Given the description of an element on the screen output the (x, y) to click on. 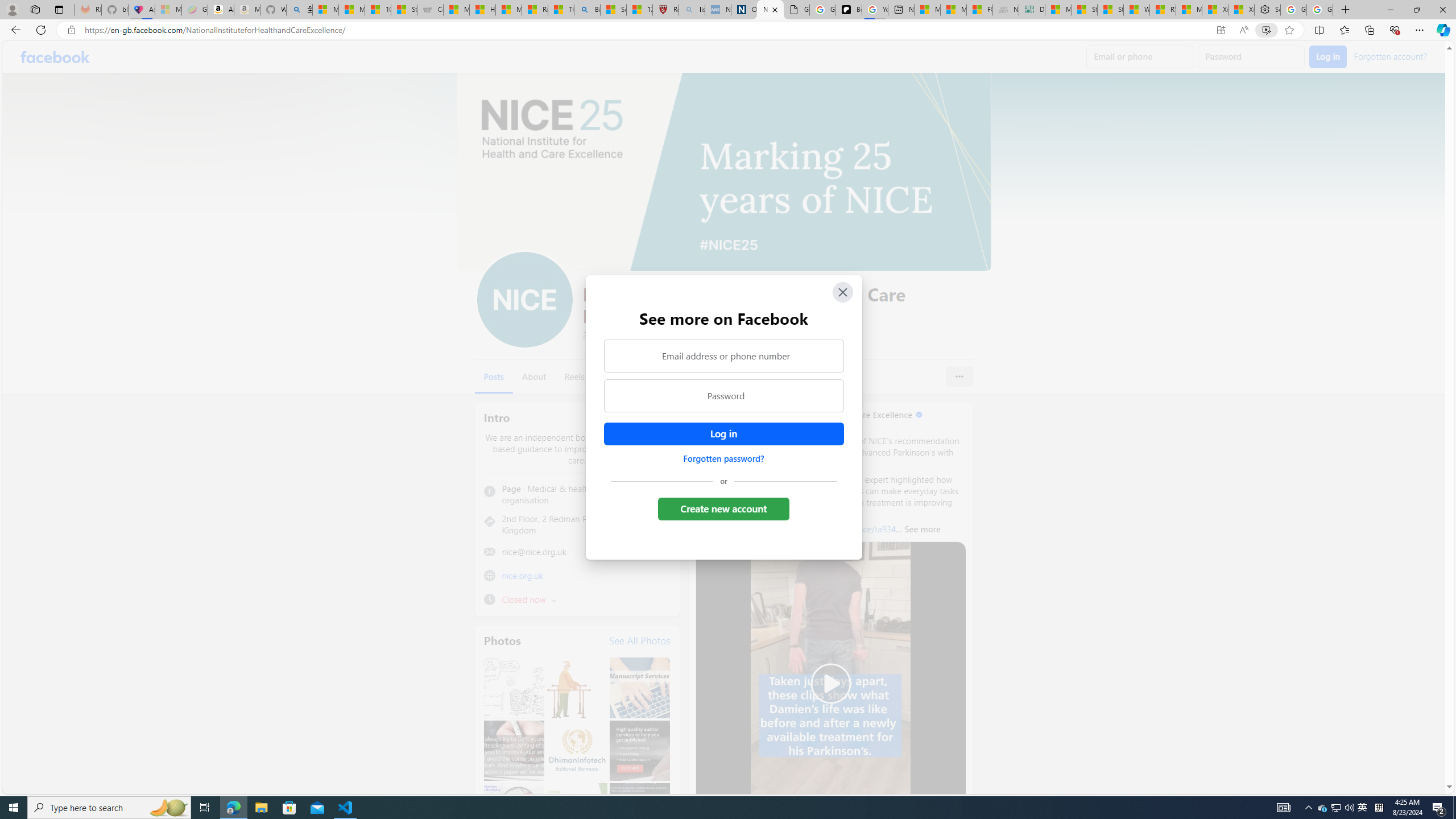
Combat Siege (430, 9)
Google Analytics Opt-out Browser Add-on Download Page (795, 9)
Stocks - MSN (1110, 9)
Forgotten password? (723, 458)
12 Popular Science Lies that Must be Corrected (639, 9)
